Given the description of an element on the screen output the (x, y) to click on. 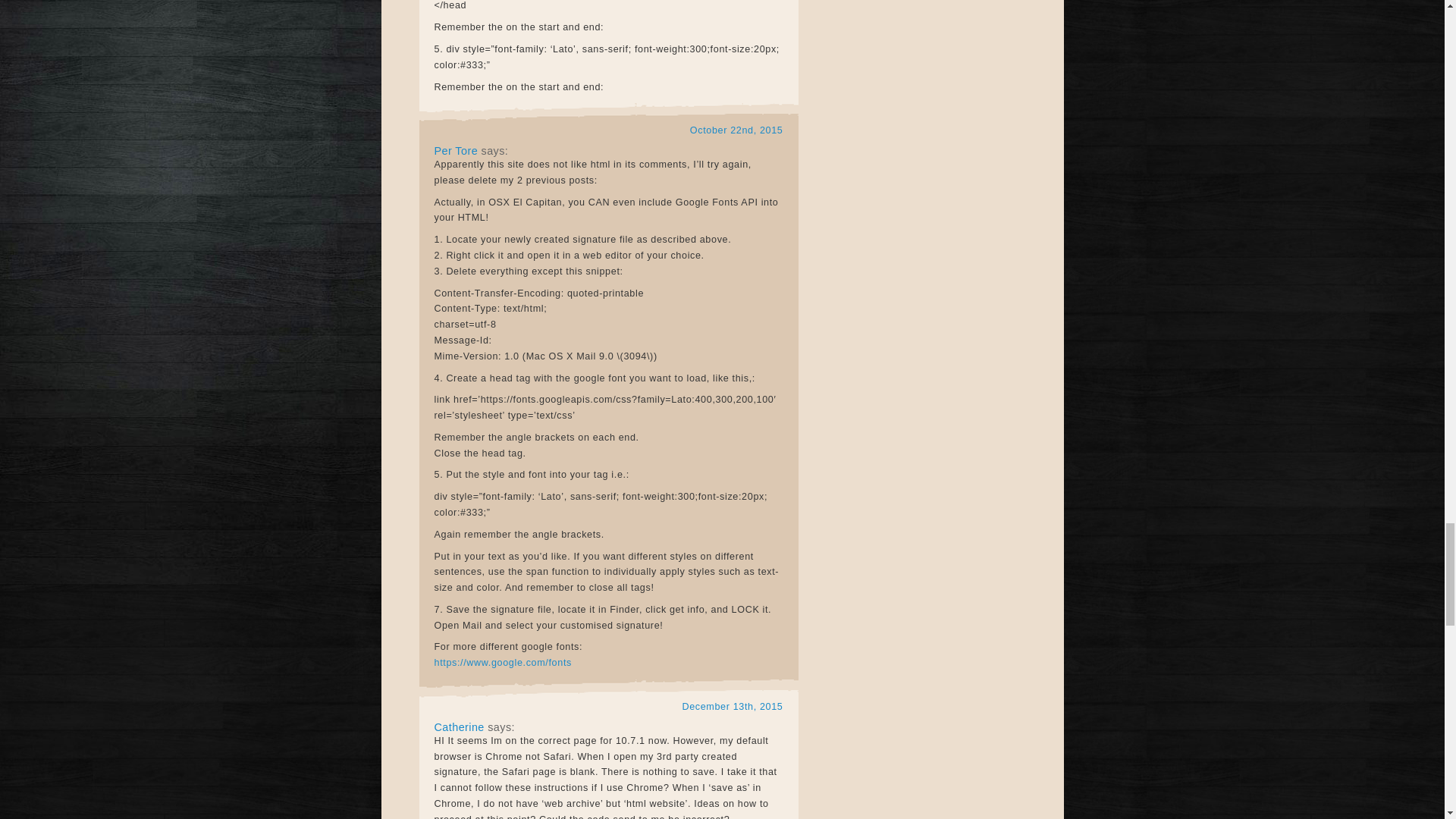
December 13th, 2015 (732, 706)
Catherine (458, 727)
October 22nd, 2015 (736, 130)
Per Tore (455, 150)
